Given the description of an element on the screen output the (x, y) to click on. 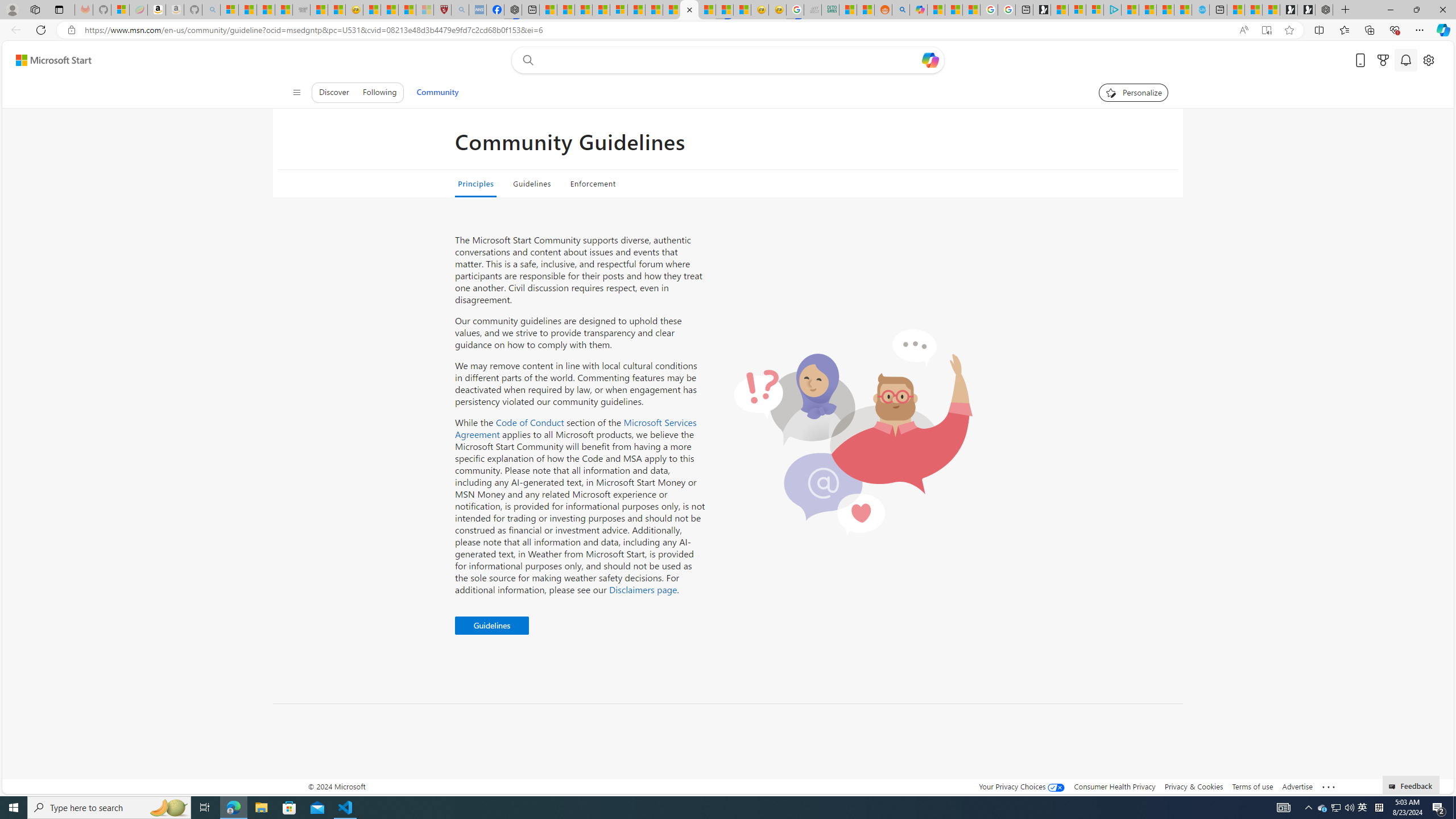
Stocks - MSN (283, 9)
Personalize your feed" (1132, 92)
Open settings (1427, 60)
Principles (475, 183)
Robert H. Shmerling, MD - Harvard Health (442, 9)
Copilot (Ctrl+Shift+.) (1442, 29)
Notifications (1405, 60)
DITOGAMES AG Imprint (830, 9)
MSN (724, 9)
Two people reacting contents (852, 432)
Enter Immersive Reader (F9) (1266, 29)
See more (1328, 787)
